Given the description of an element on the screen output the (x, y) to click on. 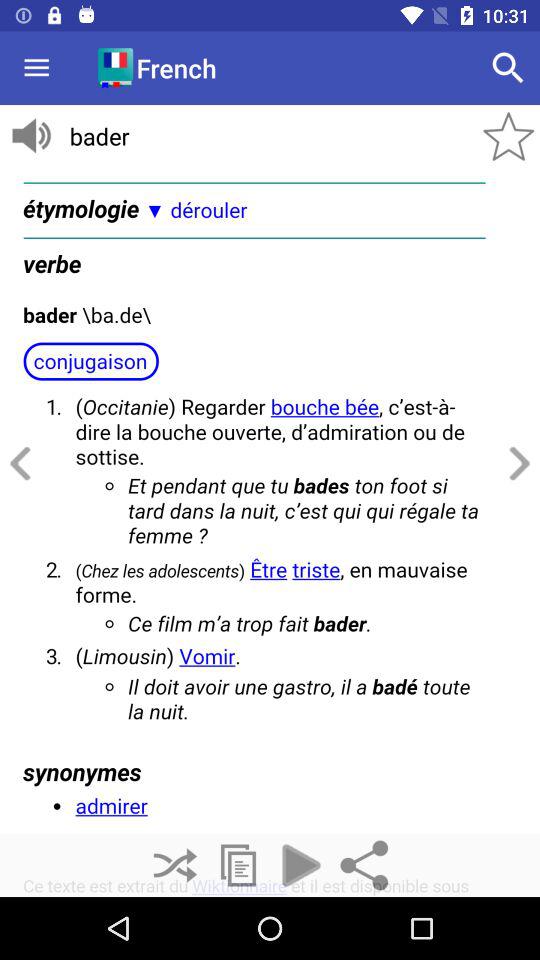
go back (23, 463)
